Given the description of an element on the screen output the (x, y) to click on. 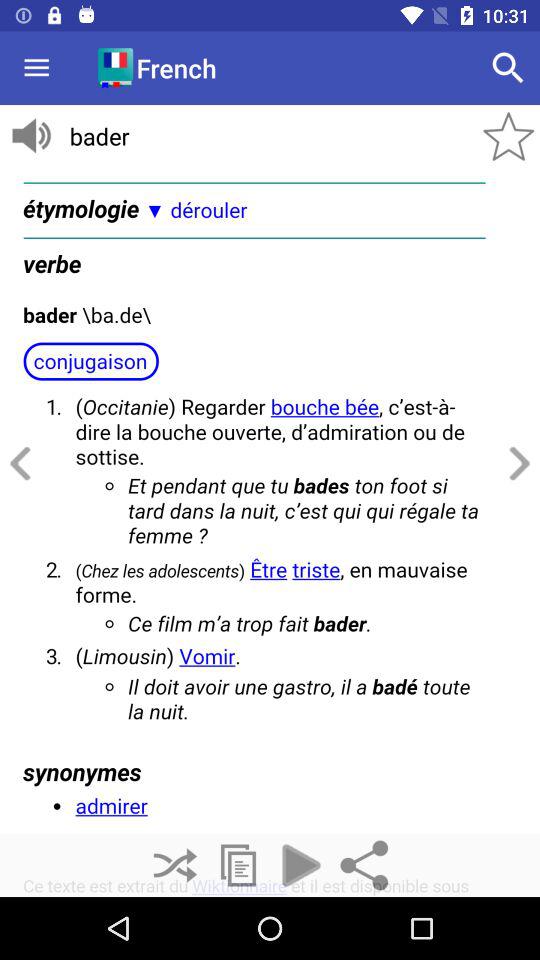
go back (23, 463)
